Given the description of an element on the screen output the (x, y) to click on. 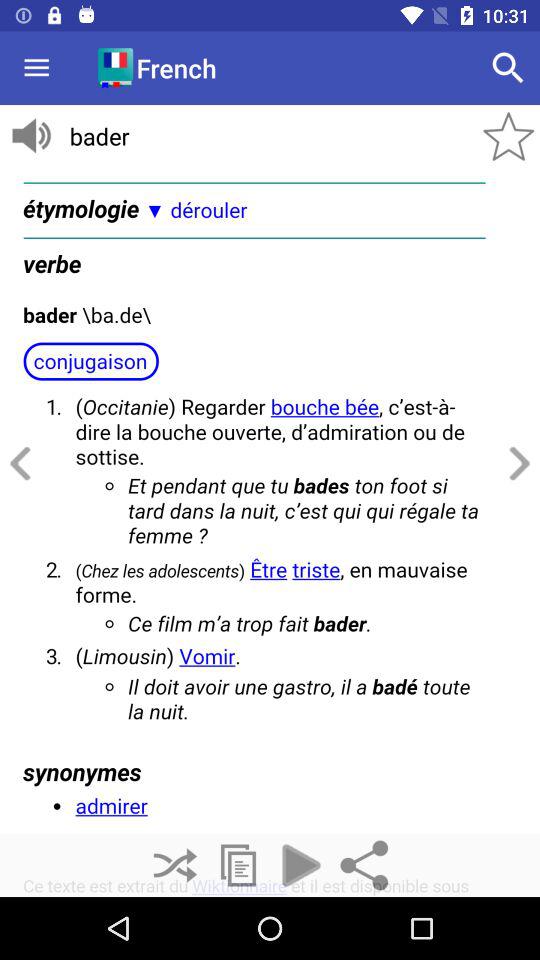
go back (23, 463)
